Given the description of an element on the screen output the (x, y) to click on. 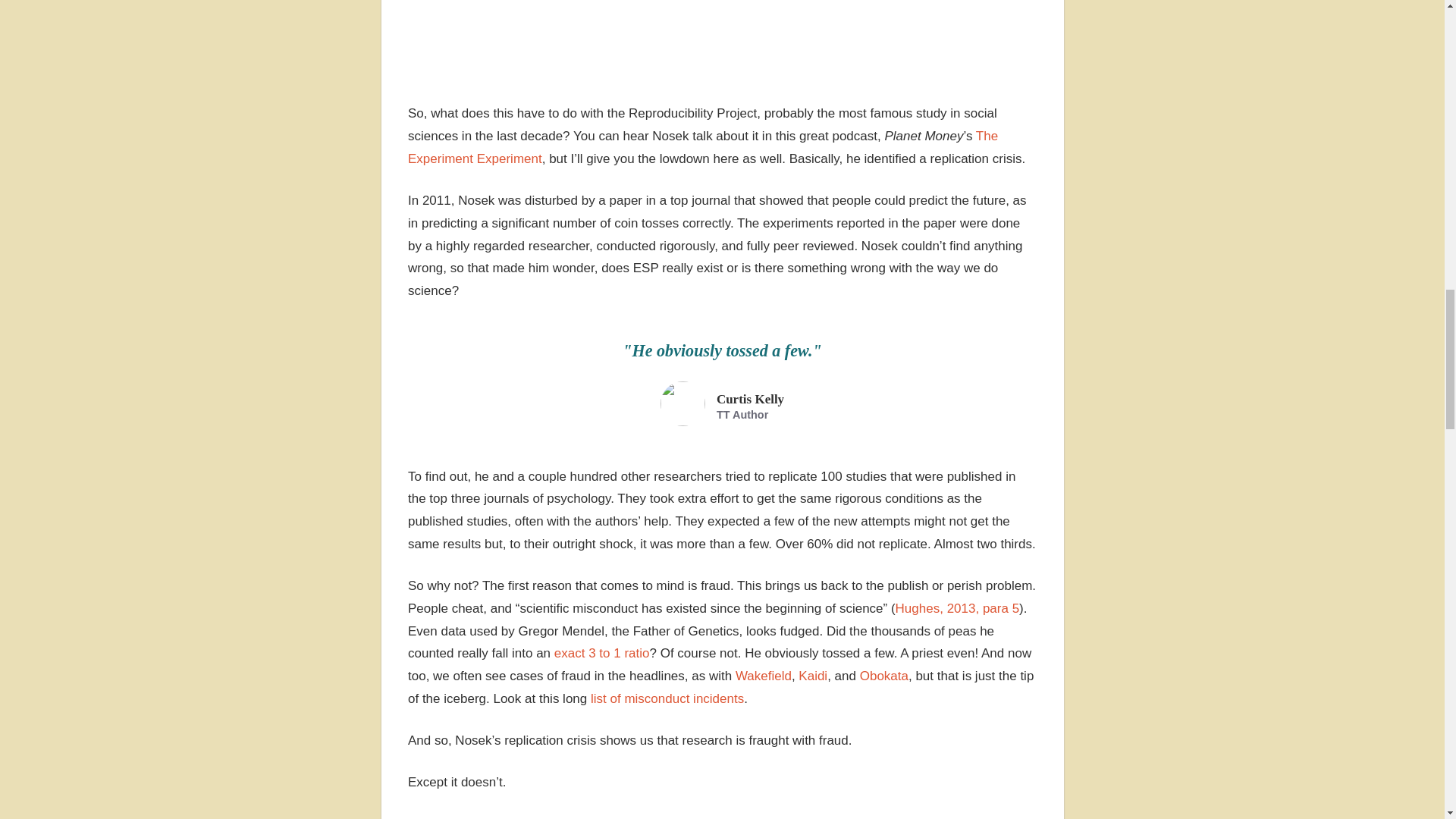
exact 3 to 1 ratio (601, 653)
Obokata (884, 676)
The Experiment Experiment (702, 147)
Wakefield (763, 676)
Hughes, 2013, para 5 (957, 608)
list of misconduct incidents (667, 698)
Kaidi (812, 676)
